Given the description of an element on the screen output the (x, y) to click on. 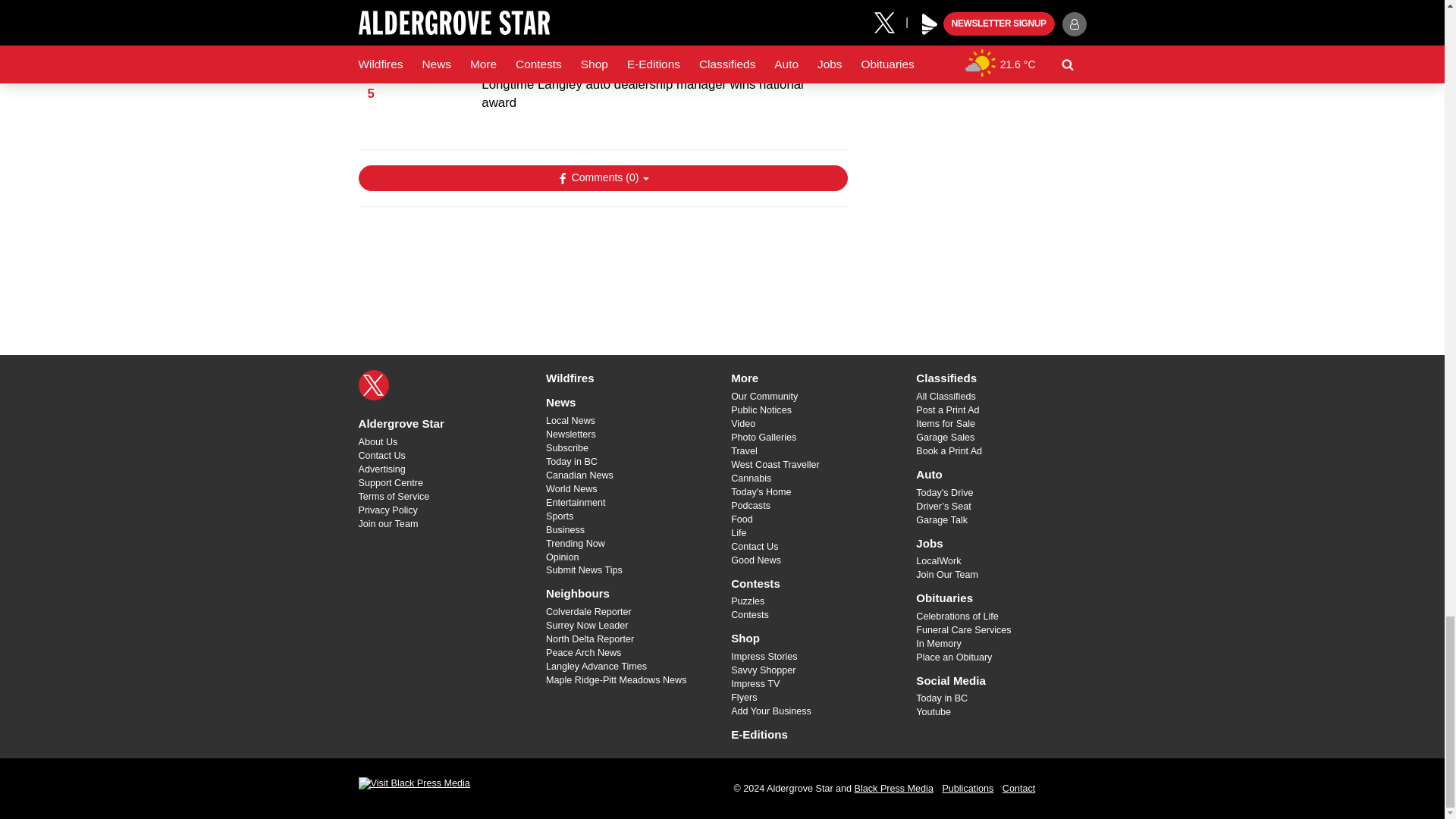
Show Comments (602, 177)
X (373, 385)
